Given the description of an element on the screen output the (x, y) to click on. 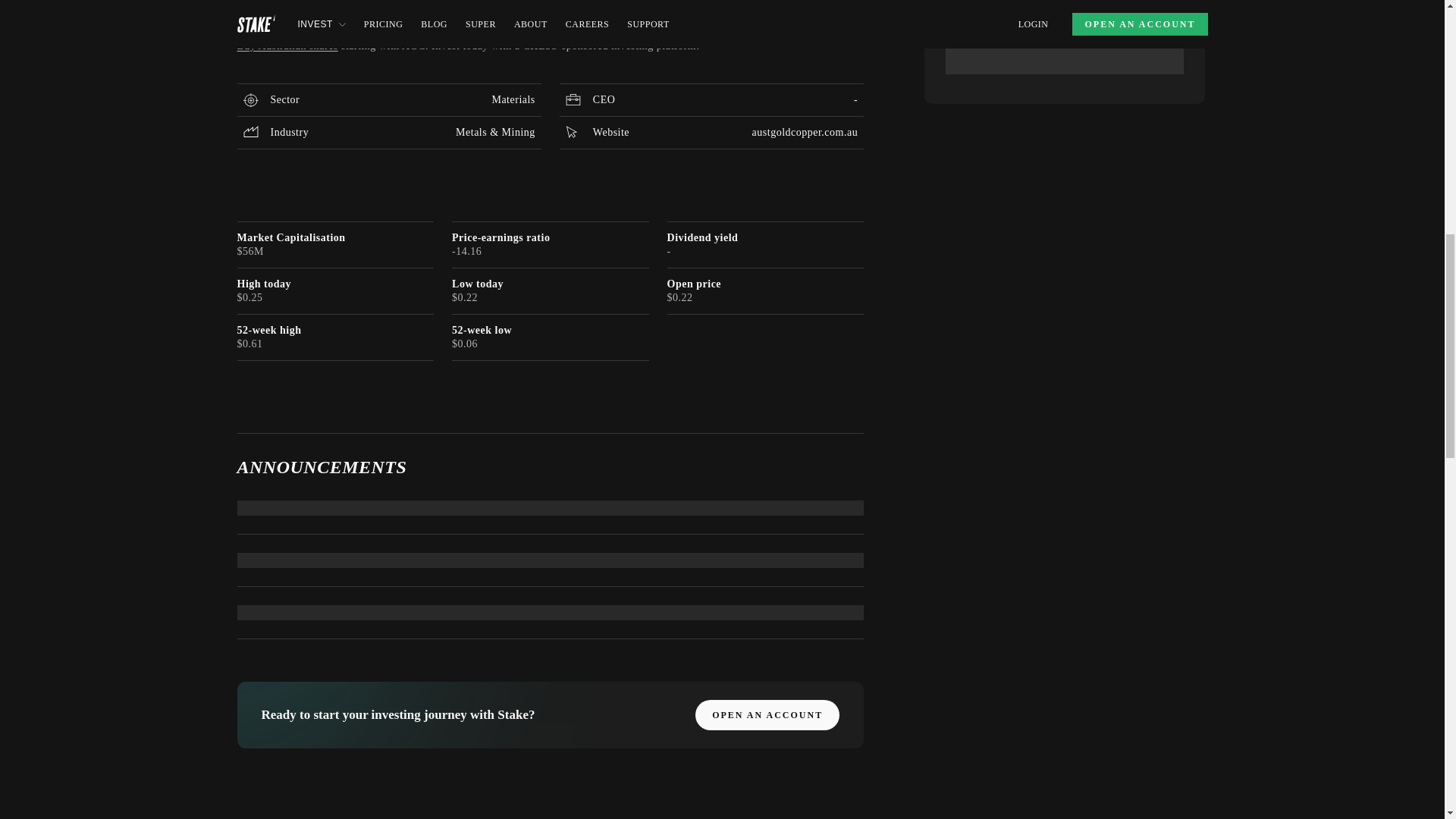
OPEN AN ACCOUNT (767, 715)
Buy Australian shares (286, 45)
